Given the description of an element on the screen output the (x, y) to click on. 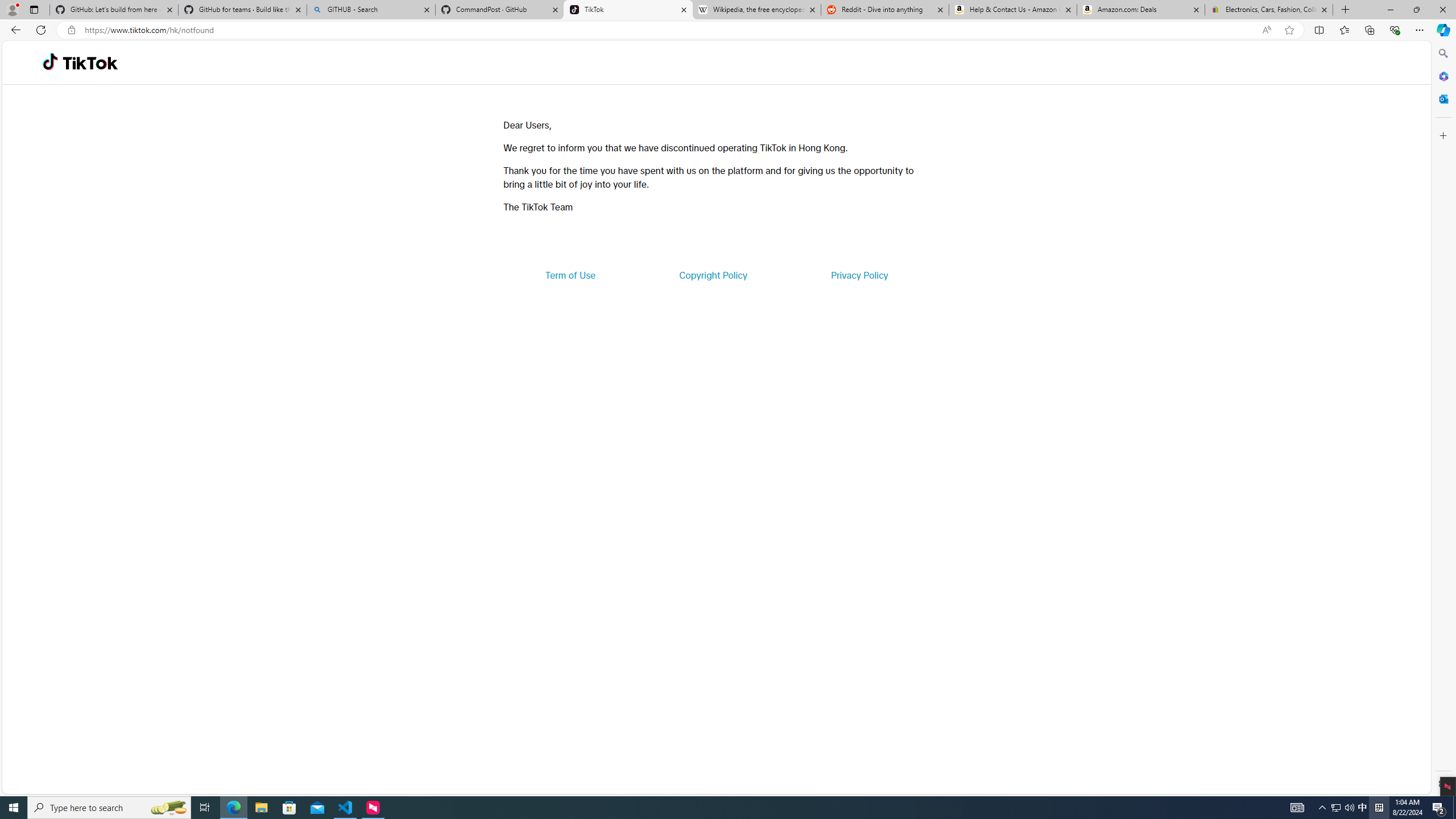
Wikipedia, the free encyclopedia (756, 9)
Privacy Policy (858, 274)
Amazon.com: Deals (1140, 9)
Copyright Policy (712, 274)
GITHUB - Search (370, 9)
